Given the description of an element on the screen output the (x, y) to click on. 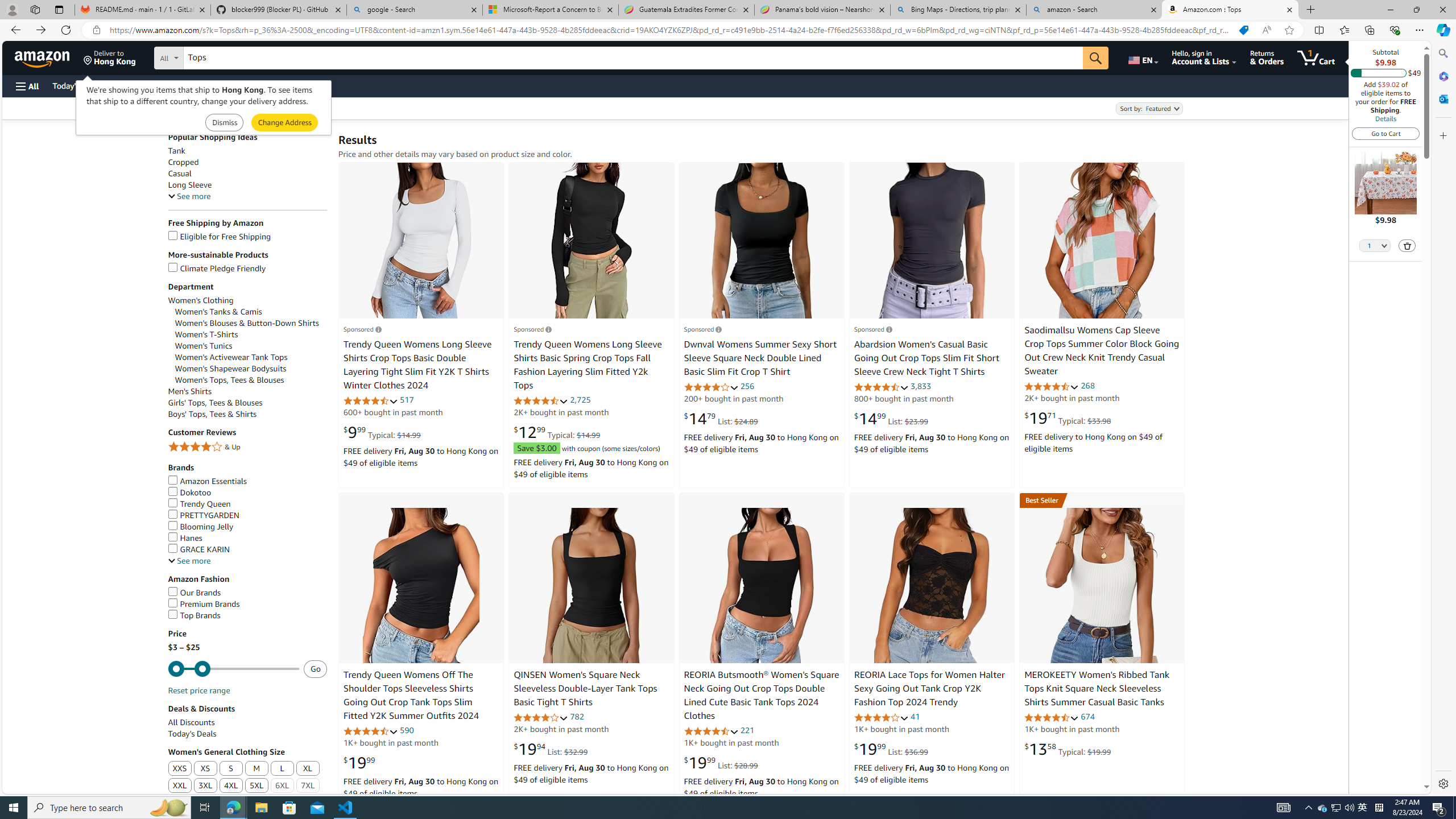
XXL (179, 786)
Women's Shapewear Bodysuits (230, 368)
674 (1087, 716)
Minimum (233, 668)
Delete (1407, 245)
Women's Activewear Tank Tops (250, 356)
All Discounts (247, 722)
XL (307, 768)
5XL (255, 785)
Returns & Orders (1266, 57)
